Given the description of an element on the screen output the (x, y) to click on. 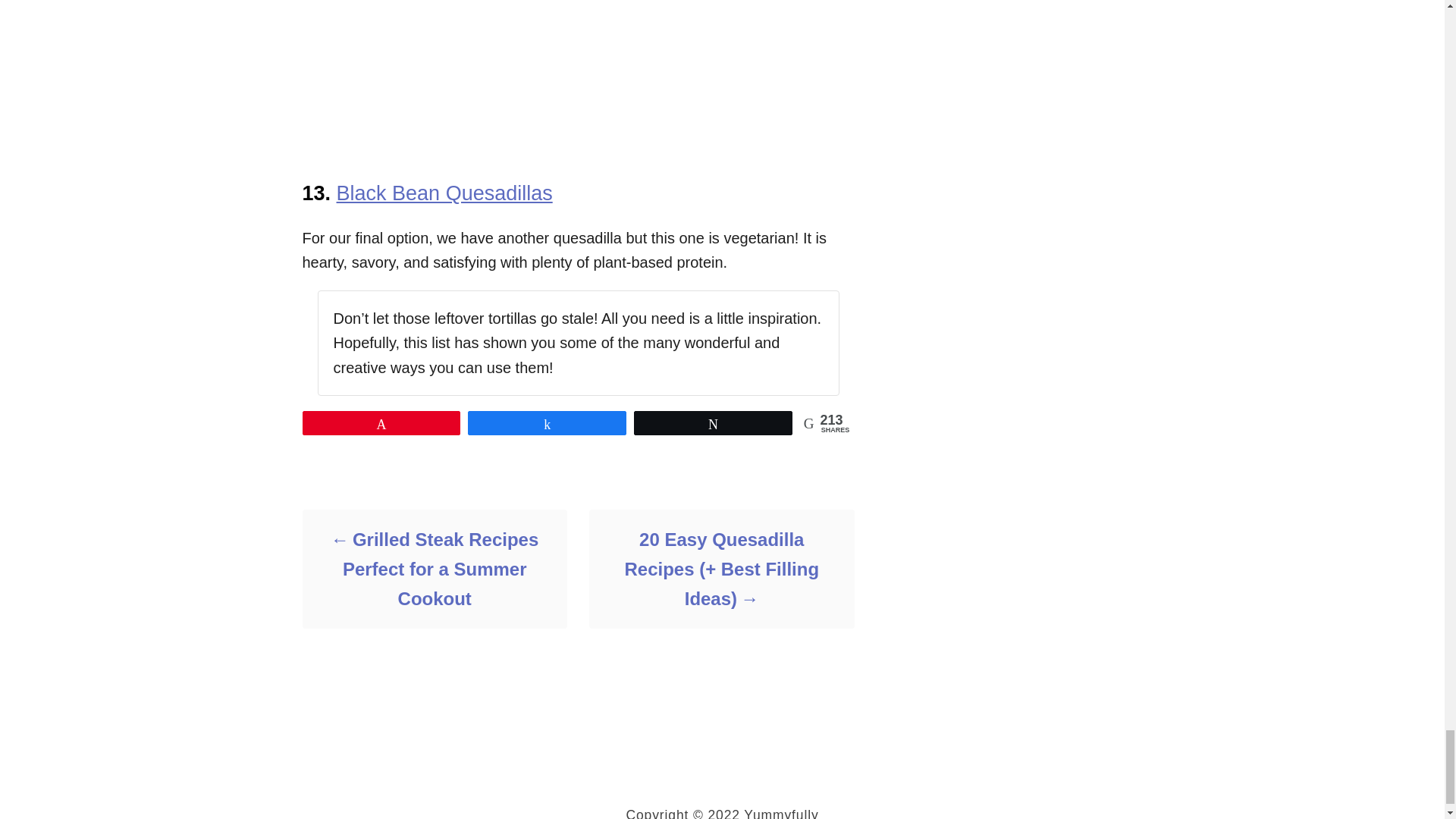
Black Bean Quesadillas (444, 192)
Grilled Steak Recipes Perfect for a Summer Cookout (434, 568)
